Given the description of an element on the screen output the (x, y) to click on. 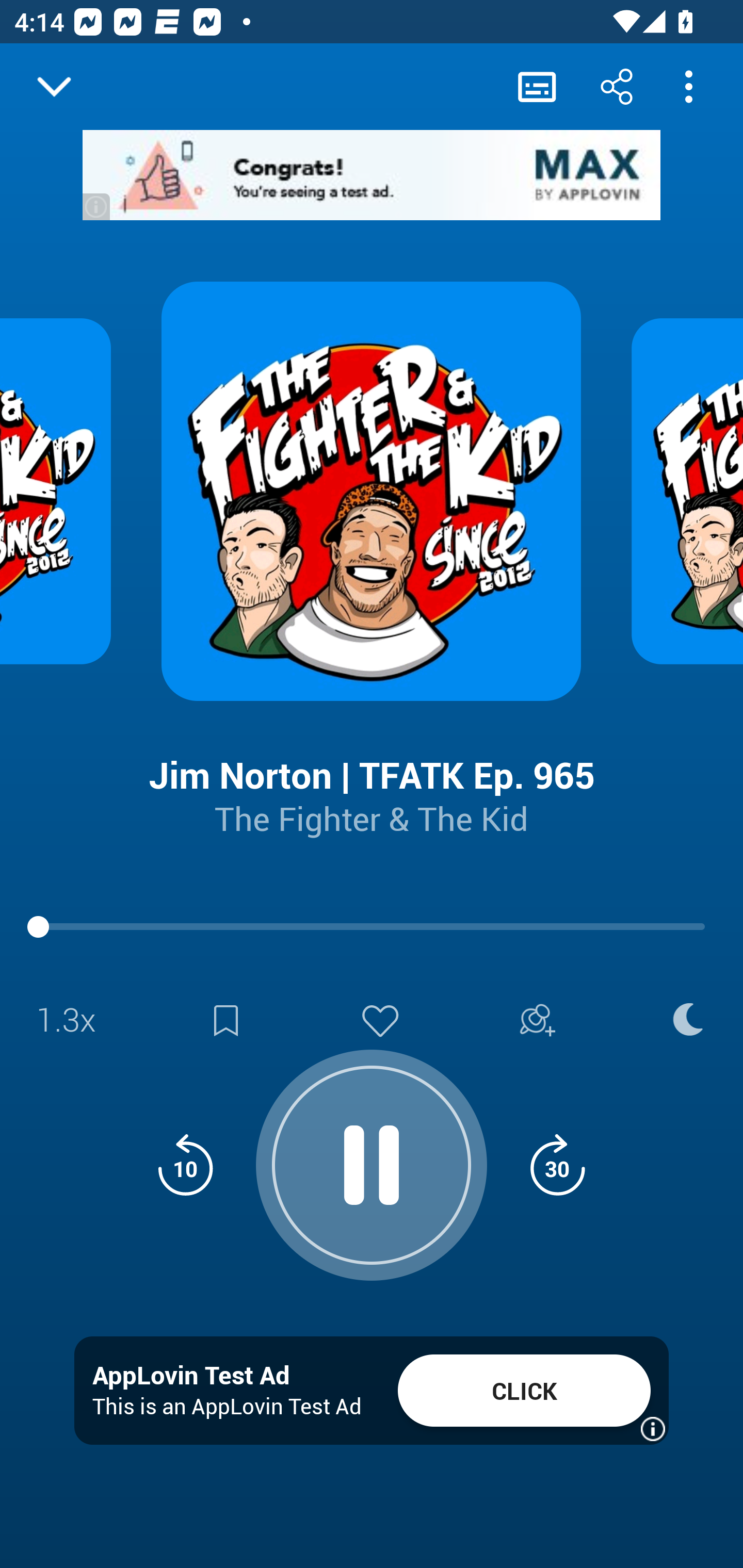
Close fullscreen player (54, 86)
Show transcript (536, 86)
Share (616, 86)
More options (688, 86)
app-monetization (371, 175)
(i) (96, 206)
Jim Norton | TFATK Ep. 965 The Fighter & The Kid (371, 780)
The Fighter & The Kid (371, 818)
1.3x Speed (72, 1020)
Like (380, 1020)
Pause button (371, 1153)
Jump back (185, 1164)
Jump forward (557, 1164)
CLICK (523, 1390)
AppLovin Test Ad (191, 1375)
This is an AppLovin Test Ad (226, 1406)
